Given the description of an element on the screen output the (x, y) to click on. 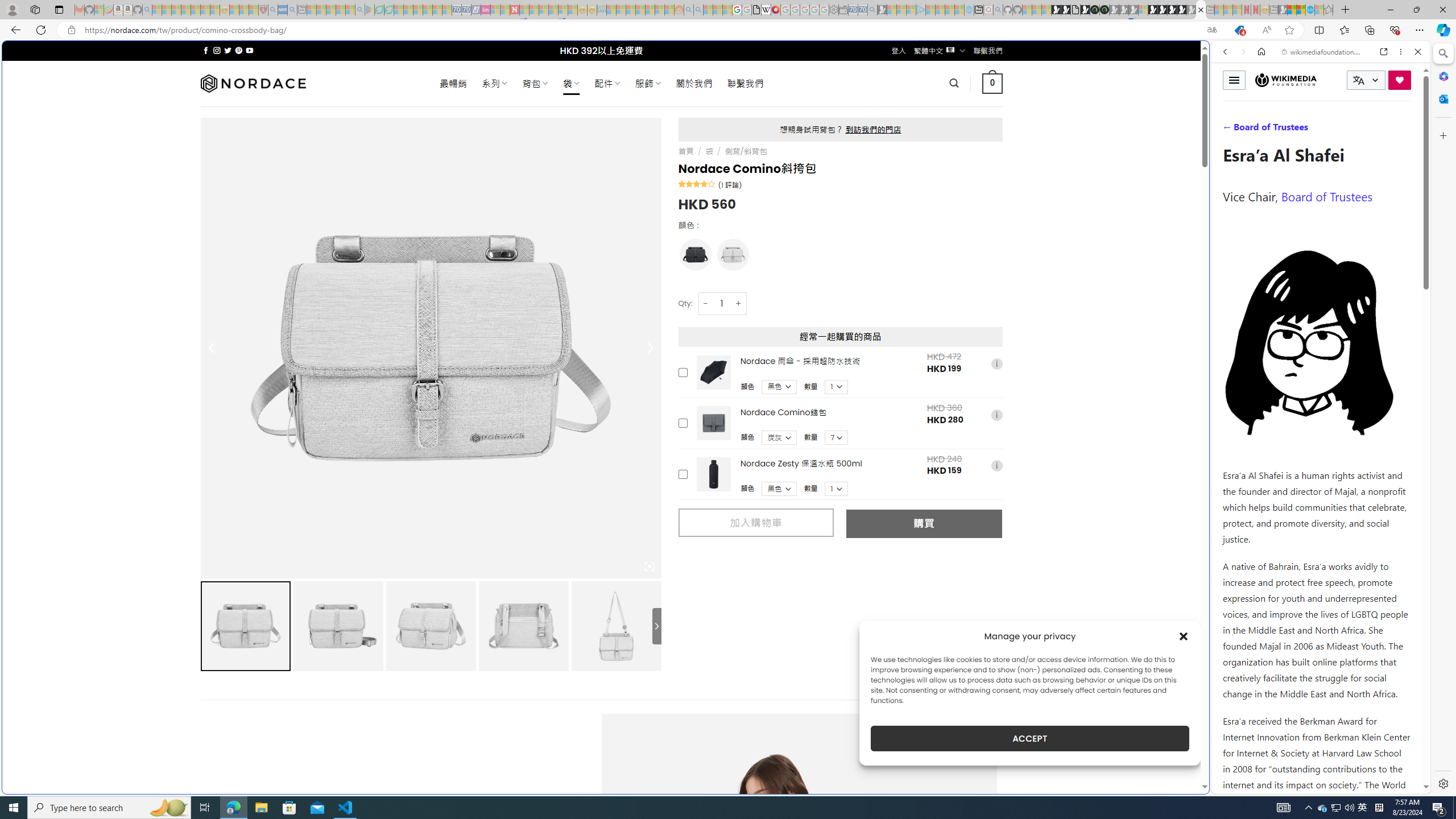
Follow on Pinterest (237, 50)
i (996, 465)
Tabs you've opened (885, 151)
